Given the description of an element on the screen output the (x, y) to click on. 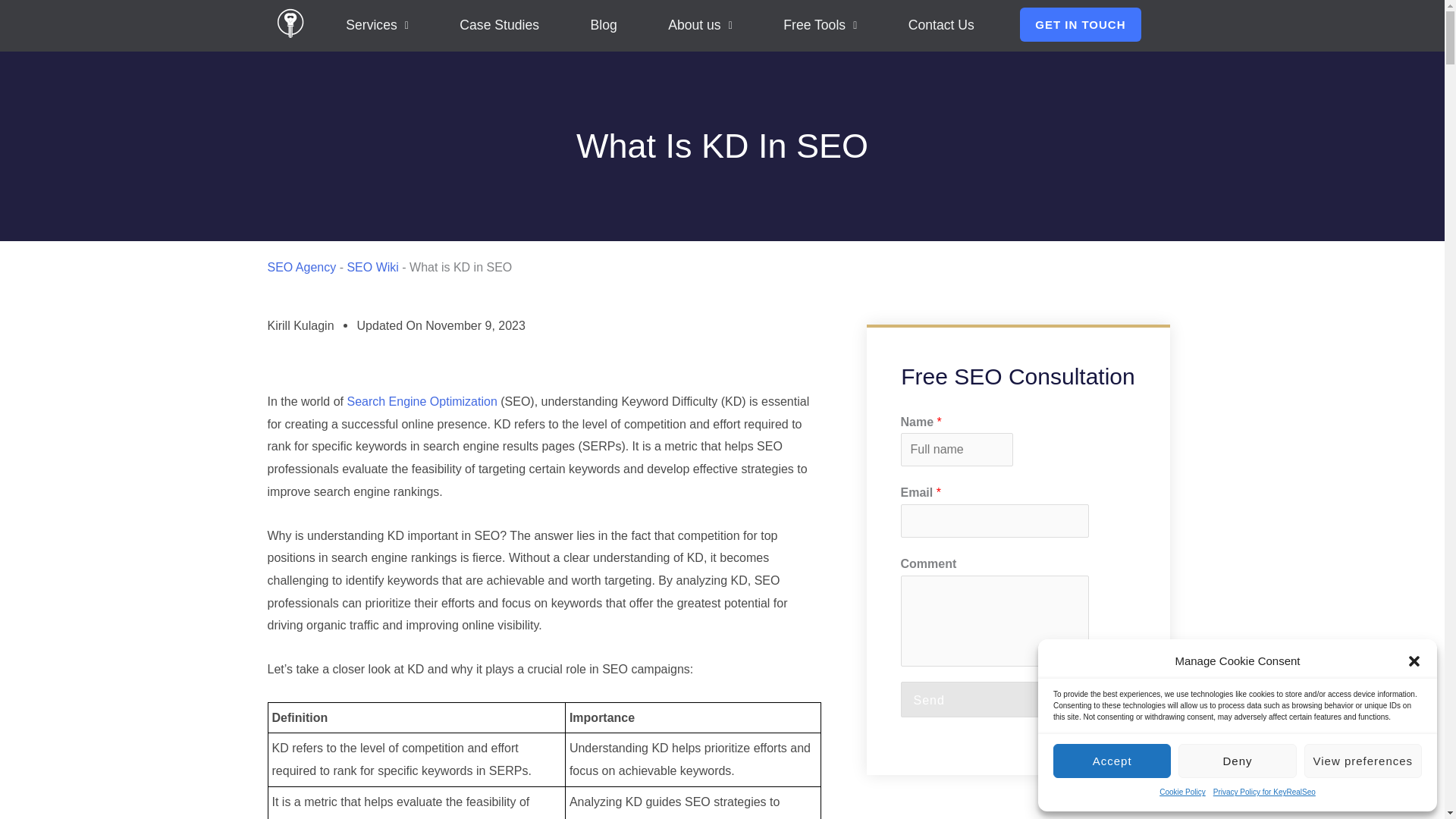
Services (376, 25)
GET IN TOUCH (1080, 24)
View preferences (1363, 760)
Deny (1236, 760)
Accept (1111, 760)
Contact Us (941, 25)
Cookie Policy (1181, 792)
Free Tools (820, 25)
About us (699, 25)
Case Studies (498, 25)
Privacy Policy for KeyRealSeo (1264, 792)
Blog (603, 25)
